Given the description of an element on the screen output the (x, y) to click on. 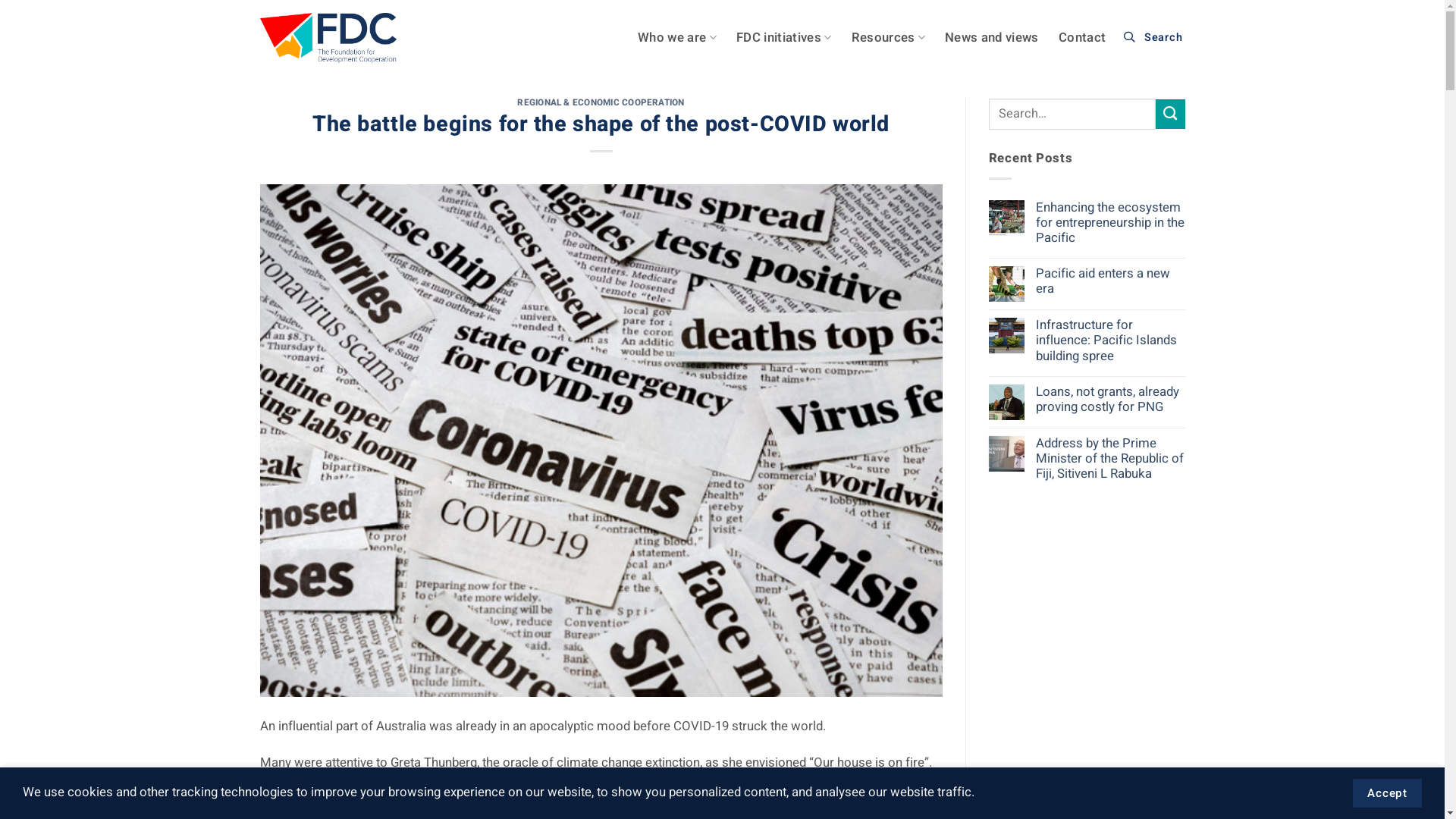
Foundation for Development Cooperation Element type: hover (327, 37)
Skip to content Element type: text (0, 0)
FDC initiatives Element type: text (783, 37)
Contact Element type: text (1081, 37)
Infrastructure for influence: Pacific Islands building spree Element type: text (1110, 340)
Who we are Element type: text (676, 37)
News and views Element type: text (991, 37)
Loans, not grants, already proving costly for PNG Element type: text (1110, 399)
Search Element type: text (1154, 37)
Pacific aid enters a new era Element type: text (1110, 281)
Resources Element type: text (888, 37)
Accept Element type: text (1386, 792)
REGIONAL & ECONOMIC COOPERATION Element type: text (600, 102)
Enhancing the ecosystem for entrepreneurship in the Pacific Element type: text (1110, 222)
